Given the description of an element on the screen output the (x, y) to click on. 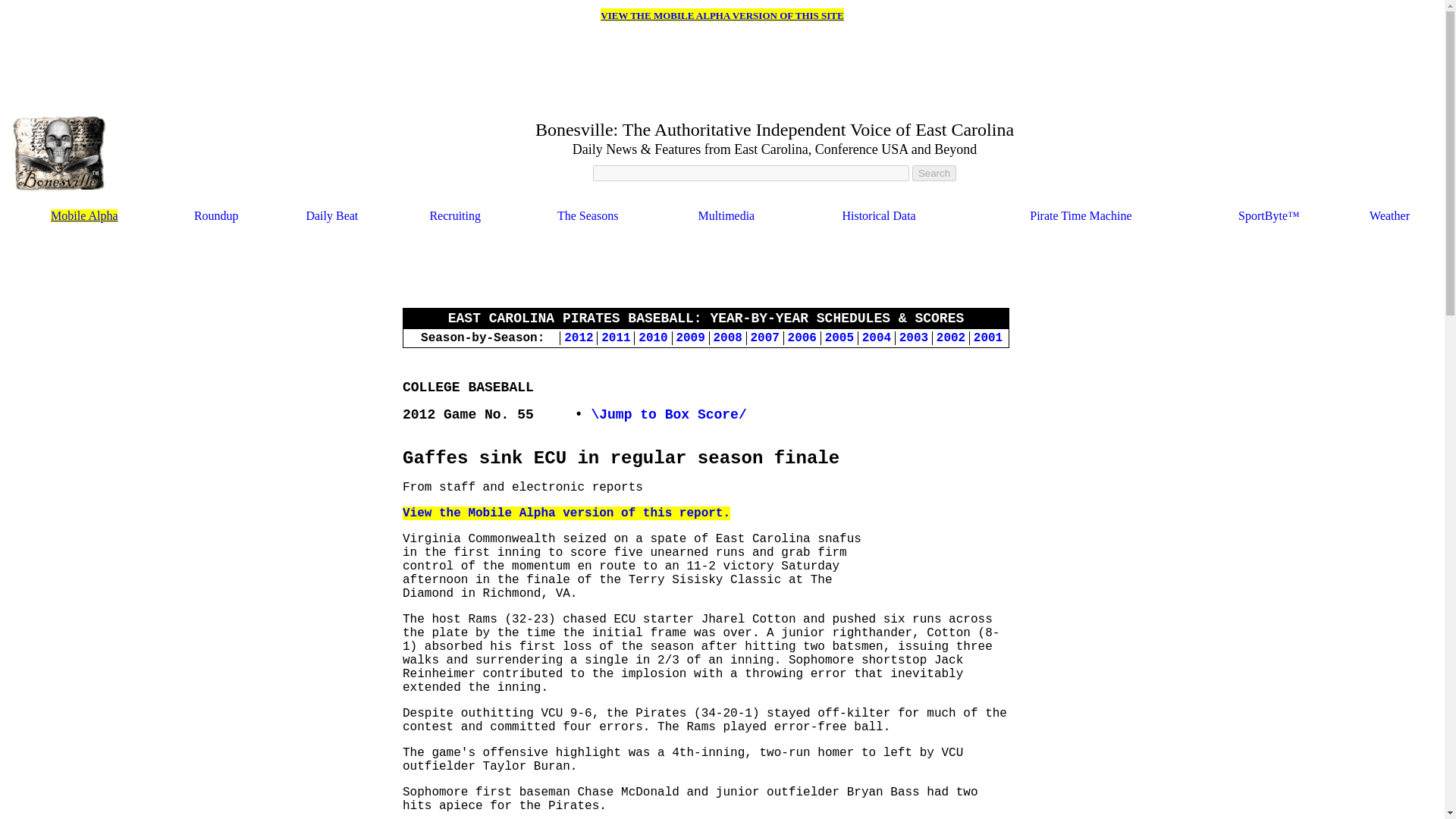
Mobile Alpha (83, 215)
2008 (727, 336)
2005 (839, 336)
2004 (876, 336)
The Seasons (587, 215)
2012 (578, 336)
Weather (1389, 215)
Recruiting (454, 215)
2010 (652, 336)
Pirate Time Machine (1080, 215)
